Given the description of an element on the screen output the (x, y) to click on. 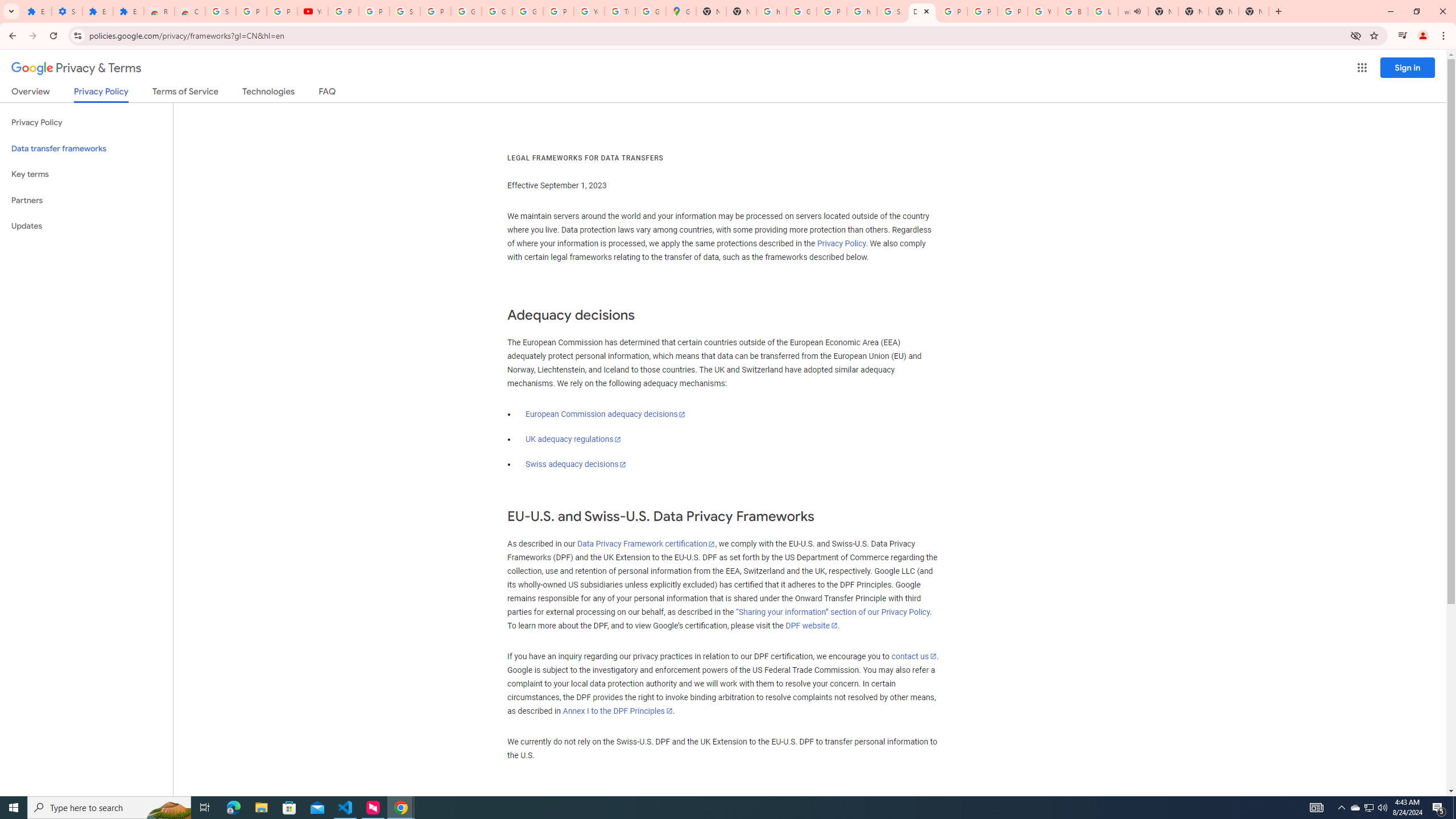
Sign in - Google Accounts (404, 11)
Swiss adequacy decisions (575, 464)
Annex I to the DPF Principles (617, 710)
https://scholar.google.com/ (771, 11)
Extensions (97, 11)
YouTube (1042, 11)
Data Privacy Framework certification (645, 543)
